Given the description of an element on the screen output the (x, y) to click on. 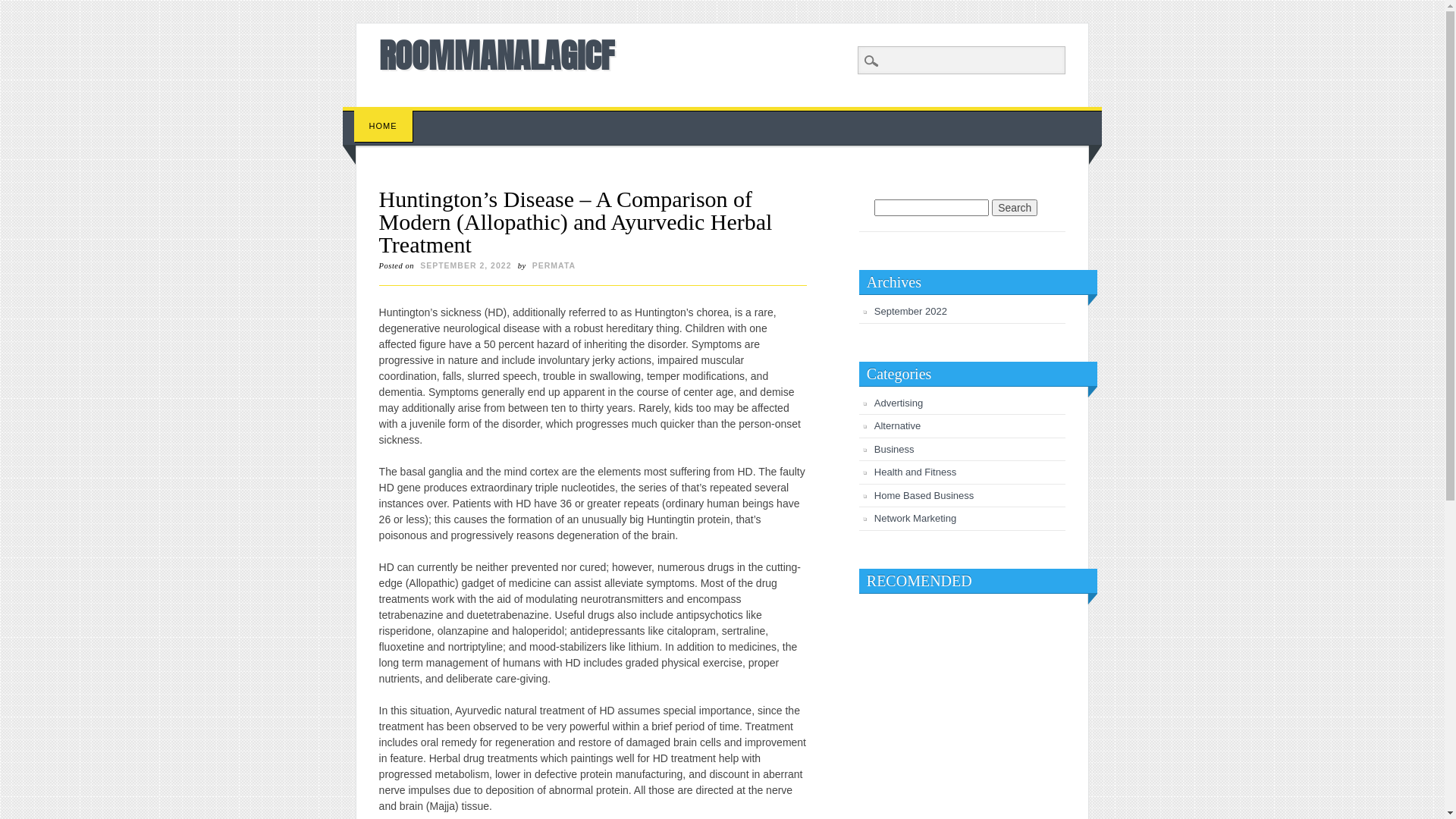
HOME Element type: text (383, 125)
Business Element type: text (894, 449)
Search Element type: text (22, 8)
SEPTEMBER 2, 2022 Element type: text (465, 264)
PERMATA Element type: text (553, 264)
Advertising Element type: text (898, 402)
Skip to content Element type: text (377, 114)
ROOMMANALAGICF Element type: text (496, 55)
Search Element type: text (1014, 207)
September 2022 Element type: text (910, 310)
Alternative Element type: text (897, 425)
Home Based Business Element type: text (924, 495)
Health and Fitness Element type: text (915, 471)
Network Marketing Element type: text (915, 518)
